Given the description of an element on the screen output the (x, y) to click on. 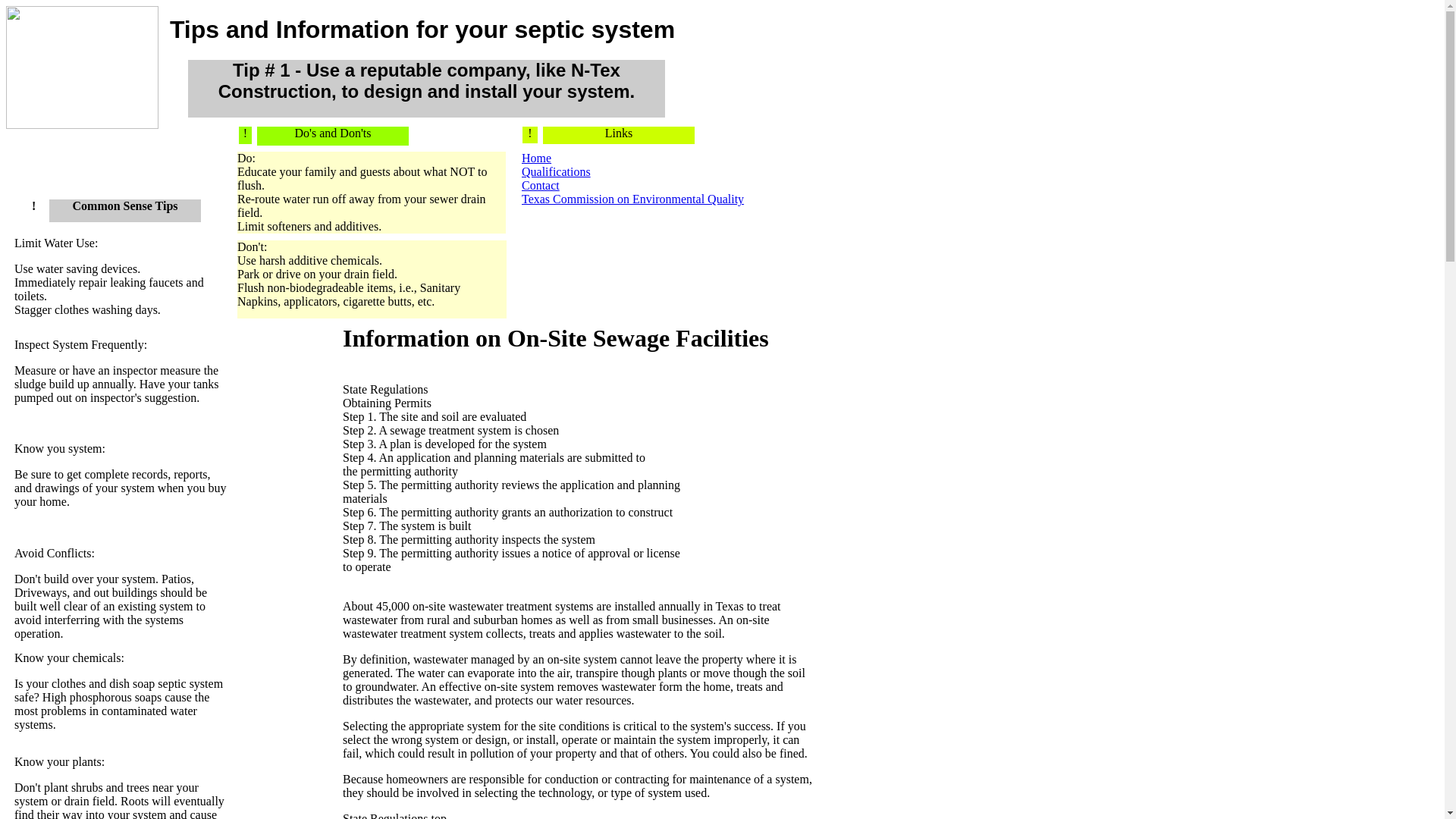
Qualifications (556, 171)
Contact (540, 185)
Texas Commission on Environmental Quality (632, 198)
Home (536, 157)
